Given the description of an element on the screen output the (x, y) to click on. 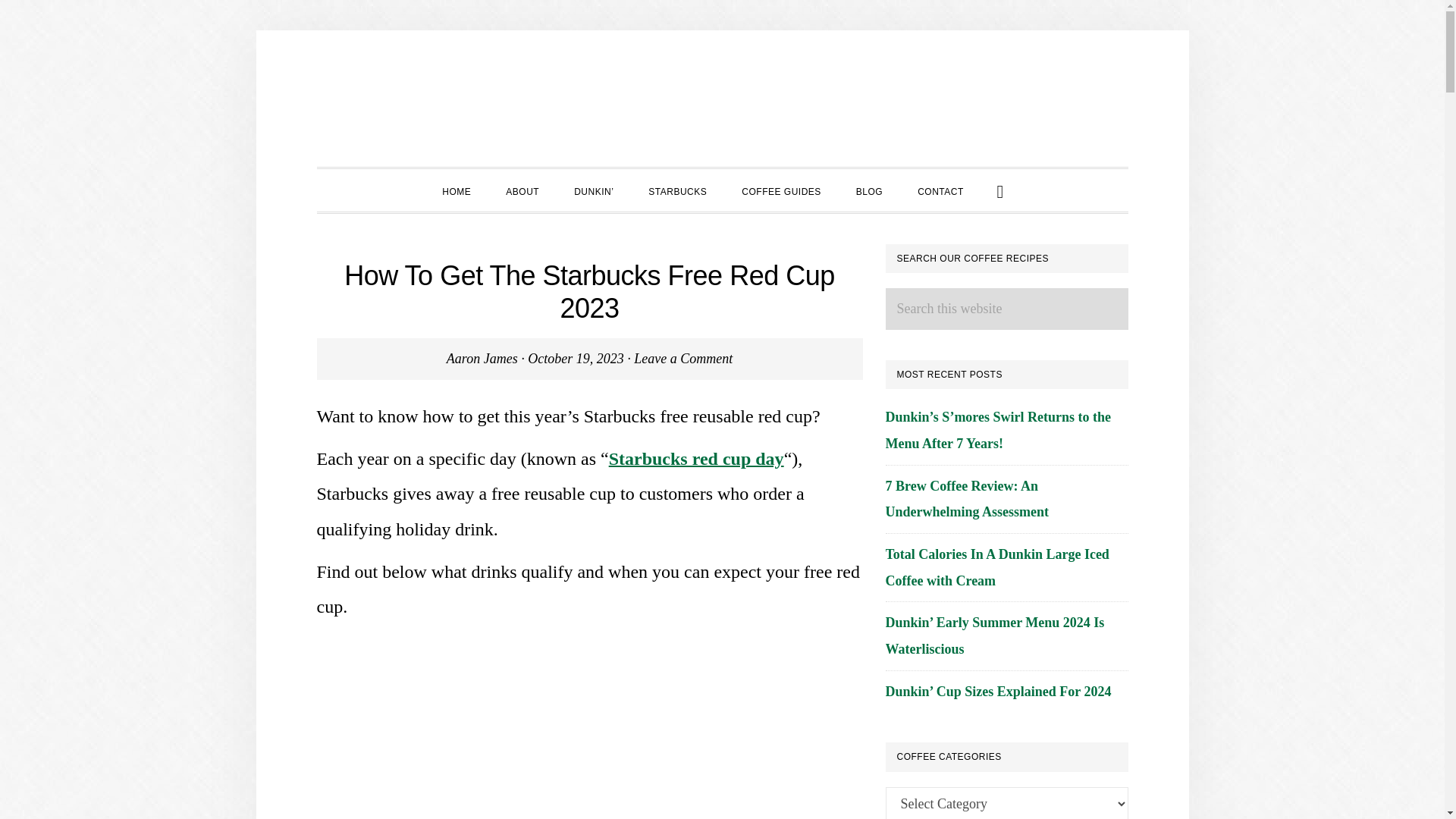
Leave a Comment (682, 358)
ABOUT (522, 189)
Aaron James (482, 358)
Total Calories In A Dunkin Large Iced Coffee with Cream (997, 567)
BEST COFFEE RECIPES (721, 98)
STARBUCKS (677, 189)
HOME (456, 189)
CONTACT (940, 189)
COFFEE GUIDES (780, 189)
BLOG (869, 189)
7 Brew Coffee Review: An Underwhelming Assessment (967, 499)
Starbucks red cup day (696, 458)
